Given the description of an element on the screen output the (x, y) to click on. 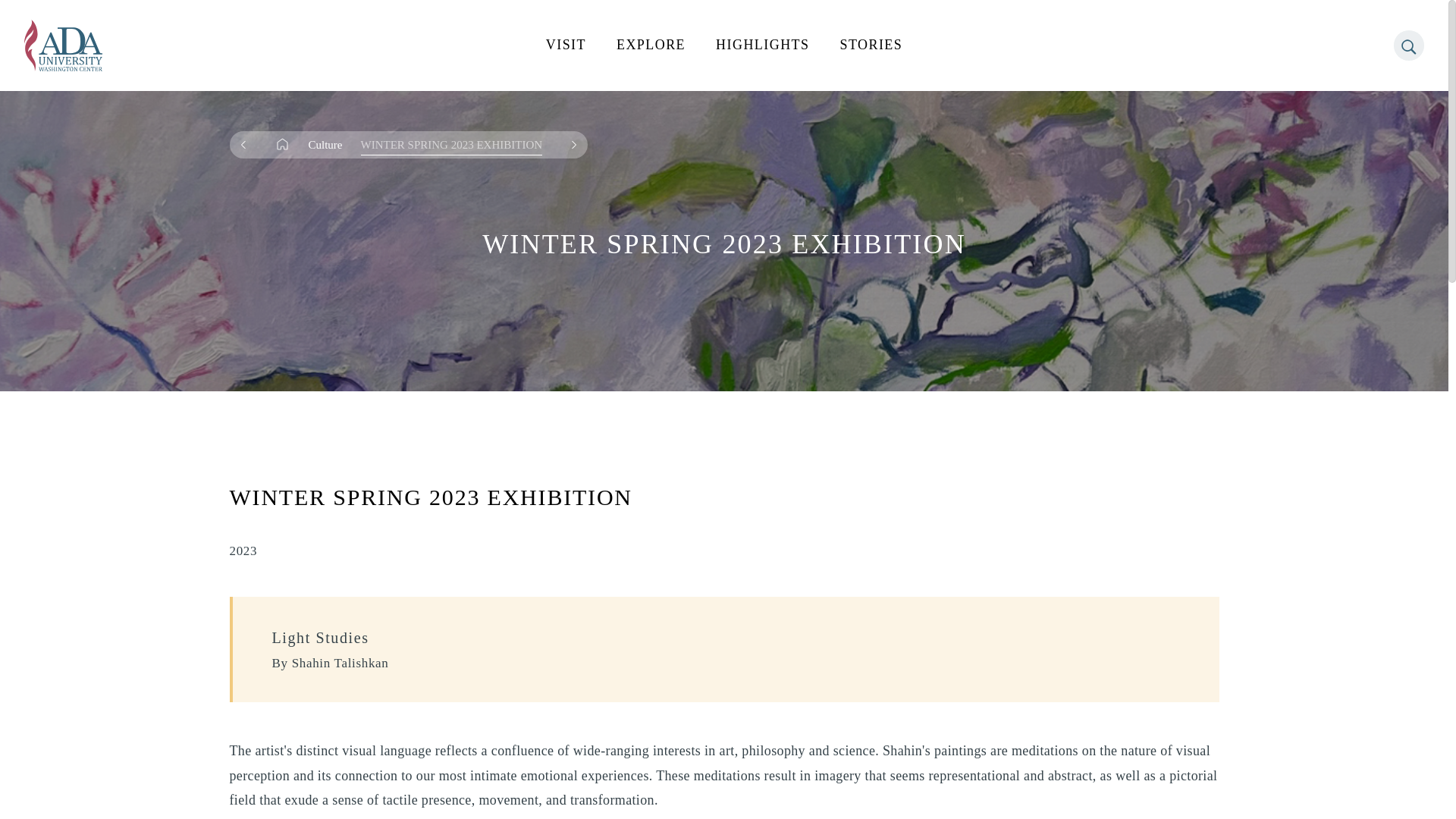
EXPLORE (650, 45)
STORIES (871, 45)
Culture (324, 144)
HIGHLIGHTS (762, 45)
VISIT (566, 45)
